Given the description of an element on the screen output the (x, y) to click on. 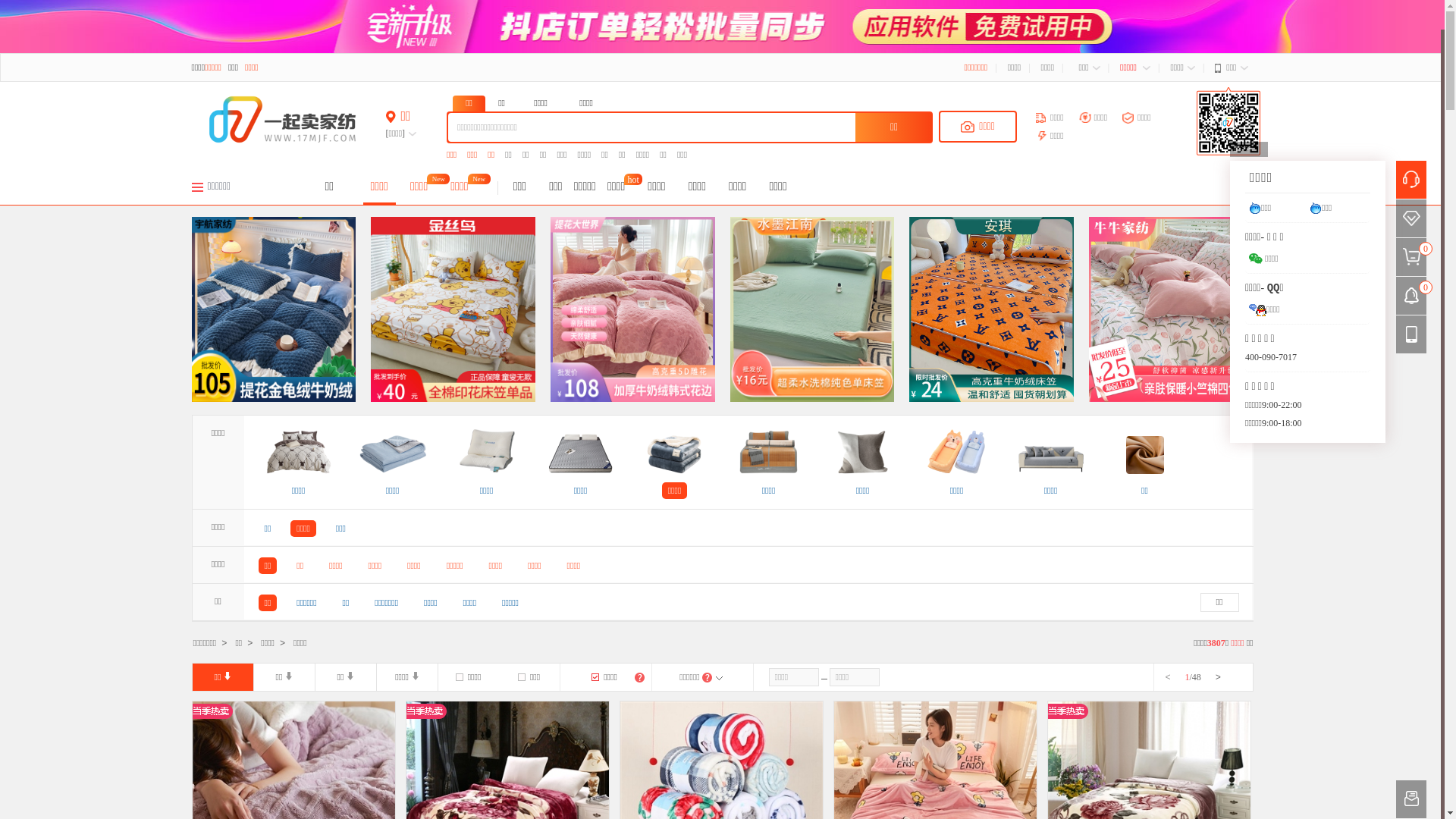
< Element type: text (1169, 677)
> Element type: text (1216, 677)
